Given the description of an element on the screen output the (x, y) to click on. 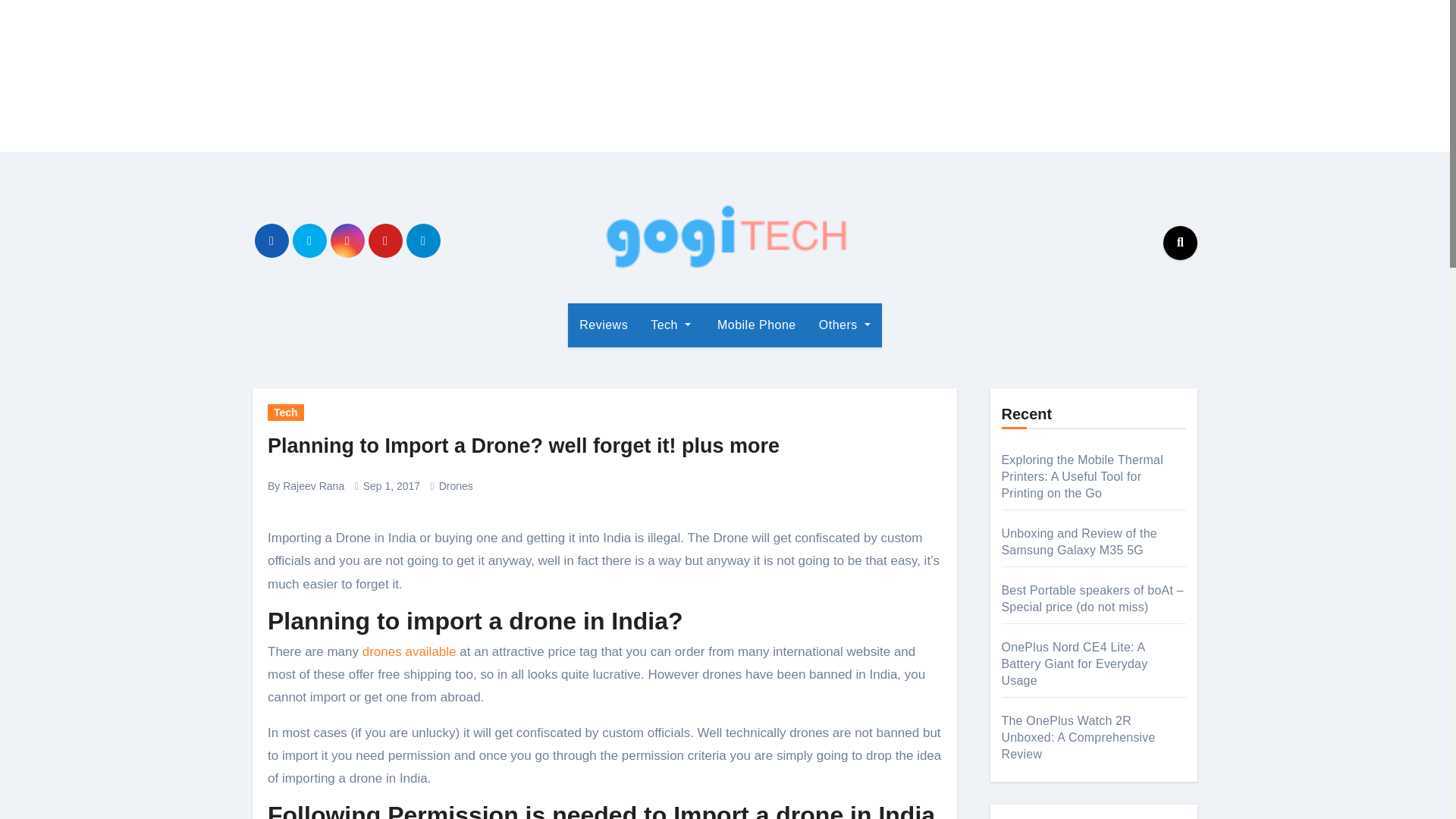
Planning to Import a Drone? well forget it! plus more (522, 445)
Tech (285, 412)
Tech (670, 325)
Tech (670, 325)
Mobile Phone Section (754, 325)
By Rajeev Rana (305, 485)
Others (845, 325)
 Mobile Phone (754, 325)
Others (845, 325)
Reviews (603, 325)
Reviews (603, 325)
